Given the description of an element on the screen output the (x, y) to click on. 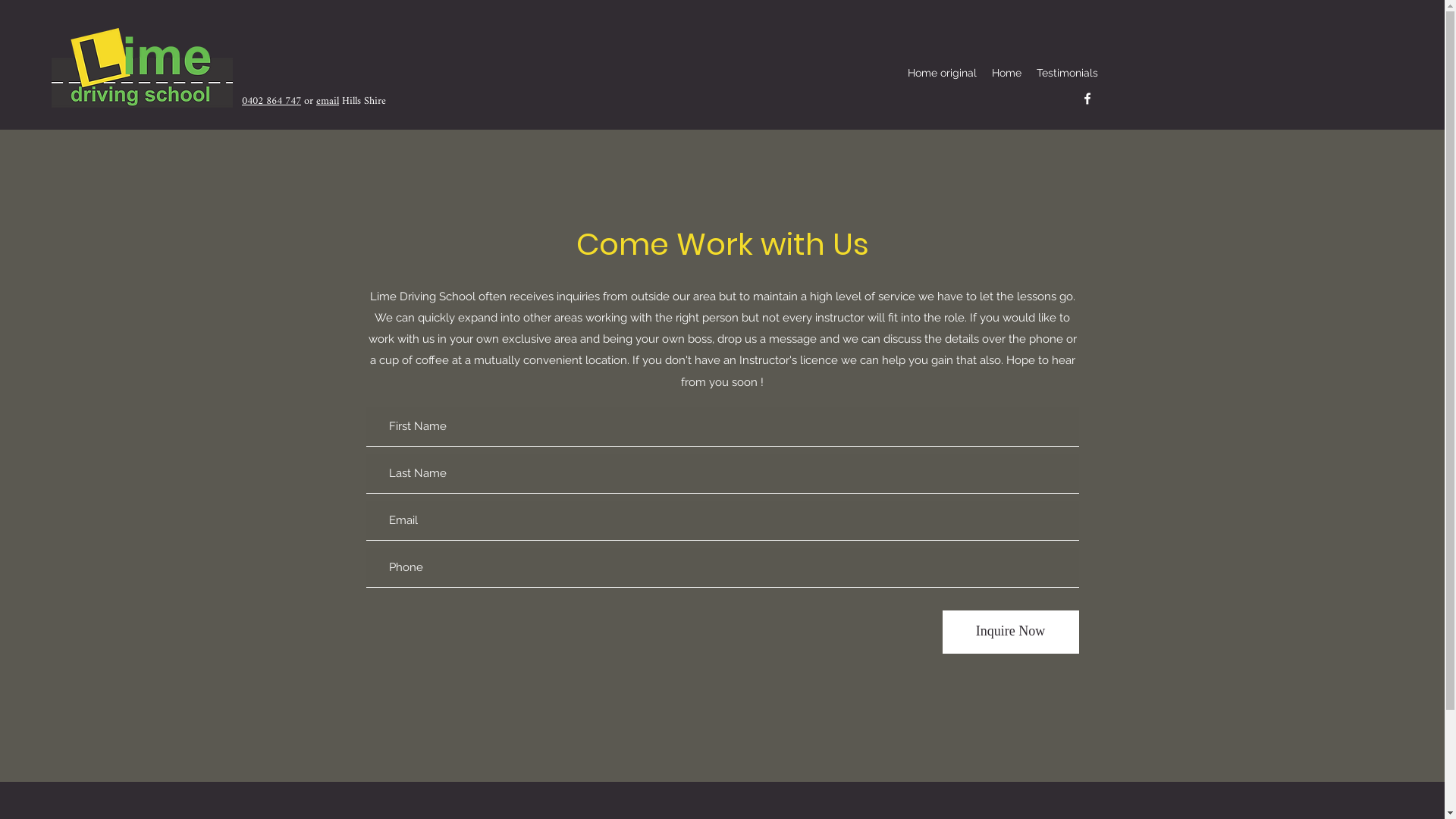
Home original Element type: text (942, 72)
Testimonials Element type: text (1067, 72)
0402 864 747 Element type: text (271, 101)
email Element type: text (327, 101)
Home Element type: text (1006, 72)
Inquire Now Element type: text (1009, 631)
